Given the description of an element on the screen output the (x, y) to click on. 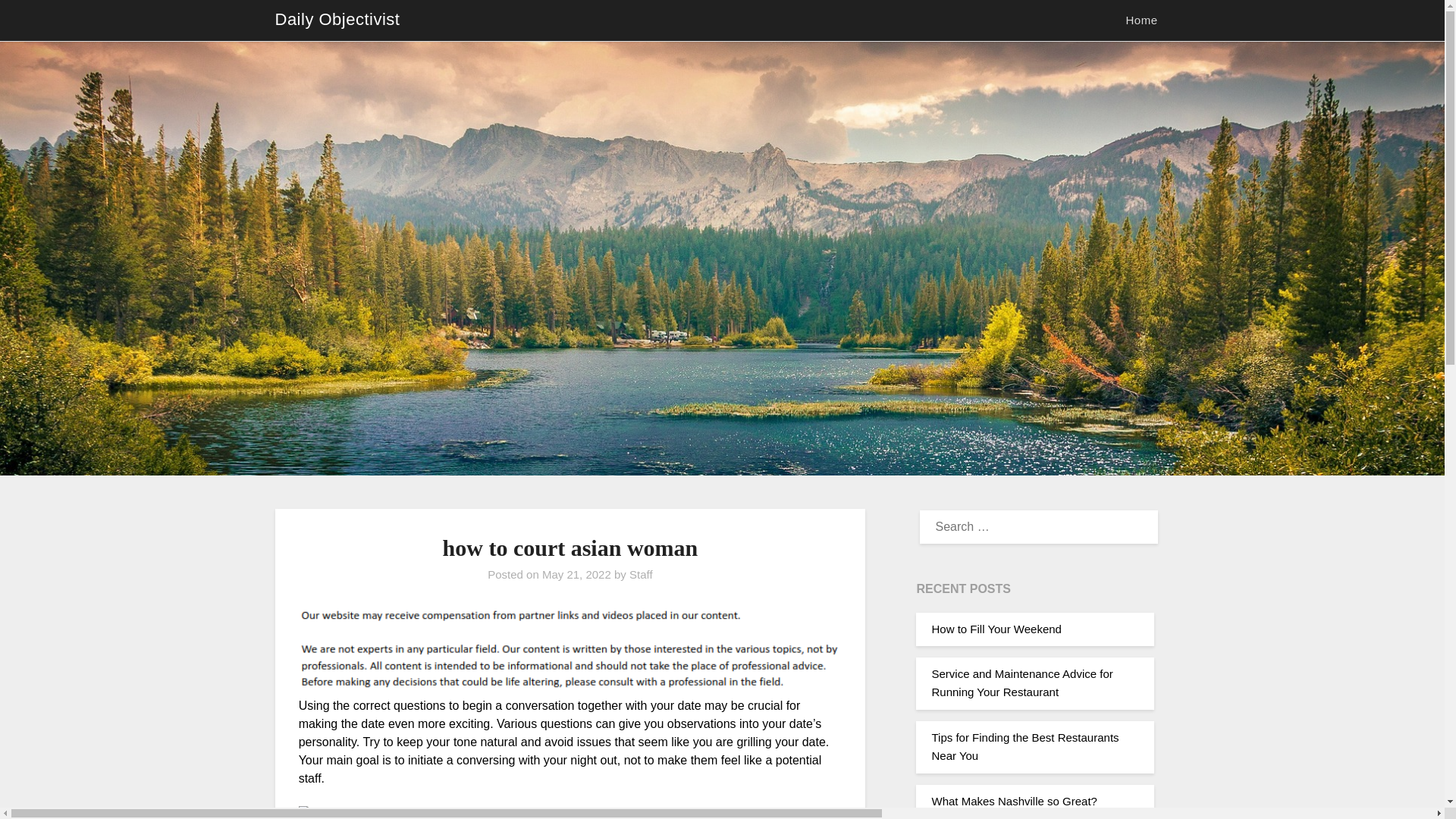
Home (1141, 20)
What Makes Nashville so Great? (1013, 800)
How to Fill Your Weekend (996, 628)
Service and Maintenance Advice for Running Your Restaurant (1021, 682)
May 21, 2022 (576, 574)
Search (38, 22)
Daily Objectivist (336, 19)
Staff (640, 574)
Tips for Finding the Best Restaurants Near You (1024, 746)
